Given the description of an element on the screen output the (x, y) to click on. 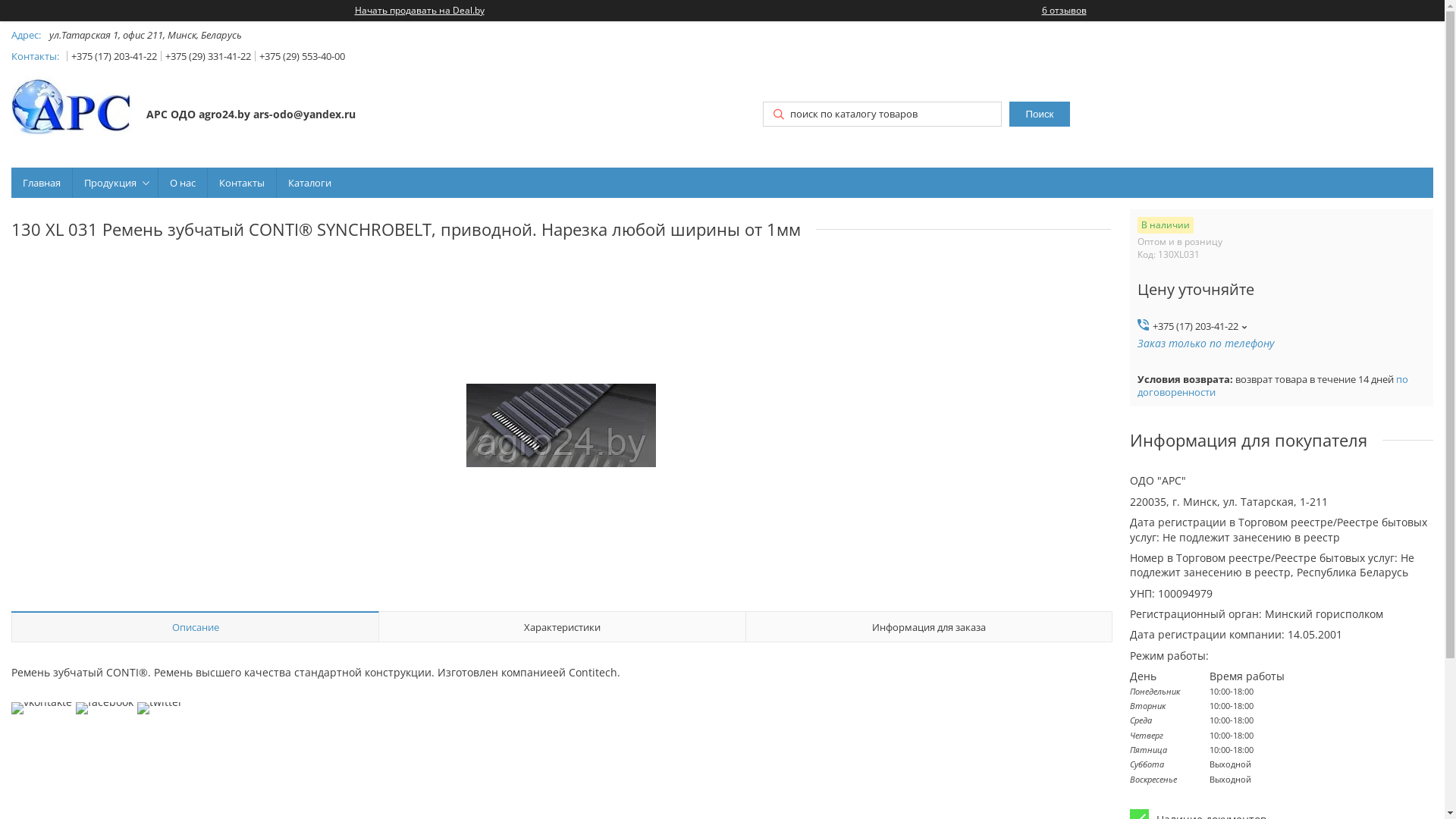
twitter Element type: hover (159, 701)
facebook Element type: hover (104, 701)
